Given the description of an element on the screen output the (x, y) to click on. 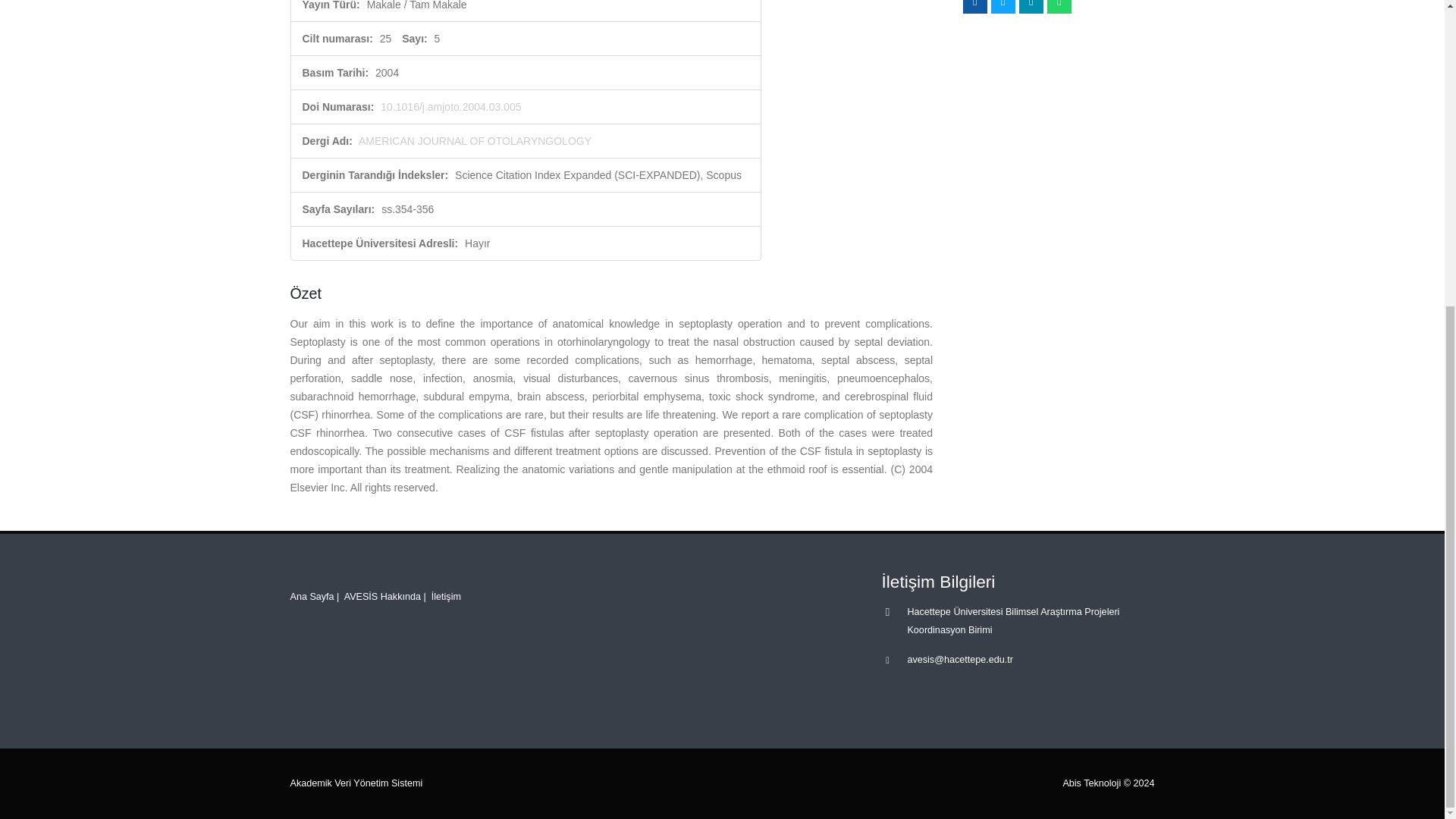
AMERICAN JOURNAL OF OTOLARYNGOLOGY (474, 141)
Abis Teknoloji (1091, 783)
Ana Sayfa (311, 596)
